Given the description of an element on the screen output the (x, y) to click on. 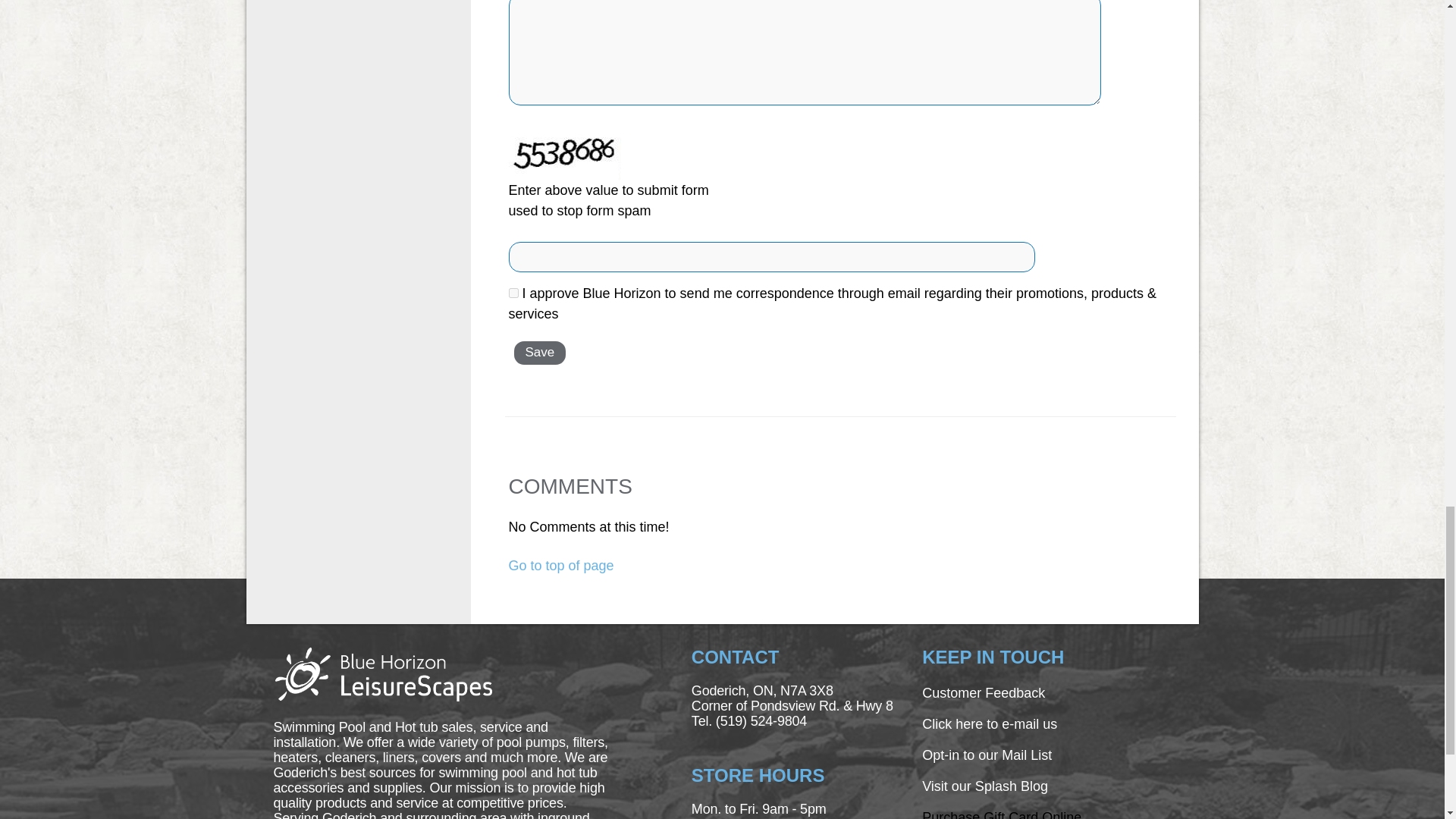
Click here to e-mail us (989, 724)
Save (539, 352)
Visit our Splash Blog (984, 785)
Visit our Splash Blog (1001, 814)
Opt-in to our Mail List (986, 754)
Customer Feedback (983, 693)
on (513, 293)
Leisure Scapes (382, 672)
